Given the description of an element on the screen output the (x, y) to click on. 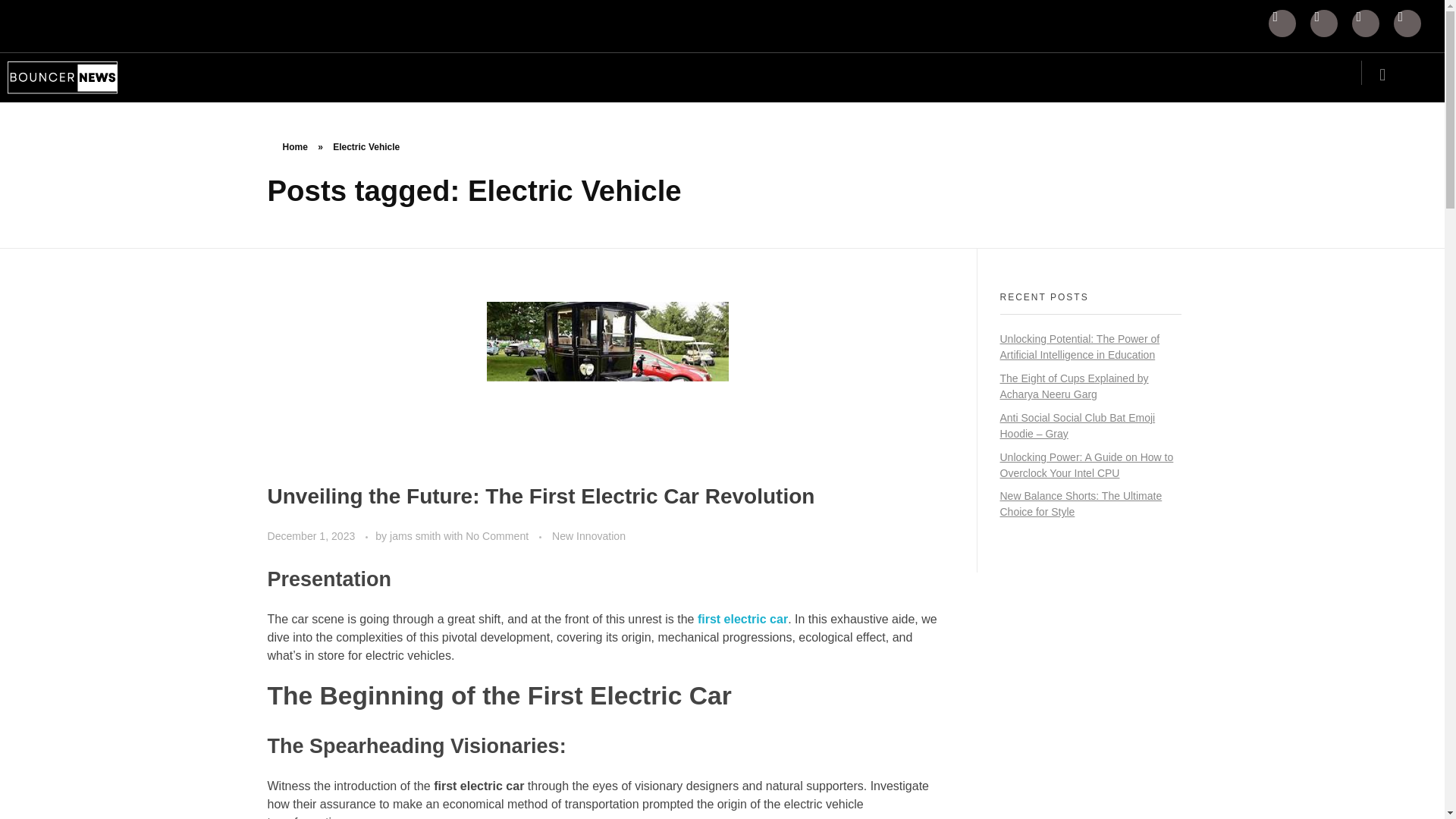
Unveiling the Future: The First Electric Car Revolution (539, 495)
The Eight of Cups Explained by Acharya Neeru Garg (1073, 386)
New Balance Shorts: The Ultimate Choice for Style (1079, 503)
View all posts in New Innovation (588, 536)
No Comment (496, 535)
Home (294, 146)
December 1, 2023 (312, 535)
New Innovation (588, 536)
Unlocking Power: A Guide on How to Overclock Your Intel CPU (1085, 465)
